Given the description of an element on the screen output the (x, y) to click on. 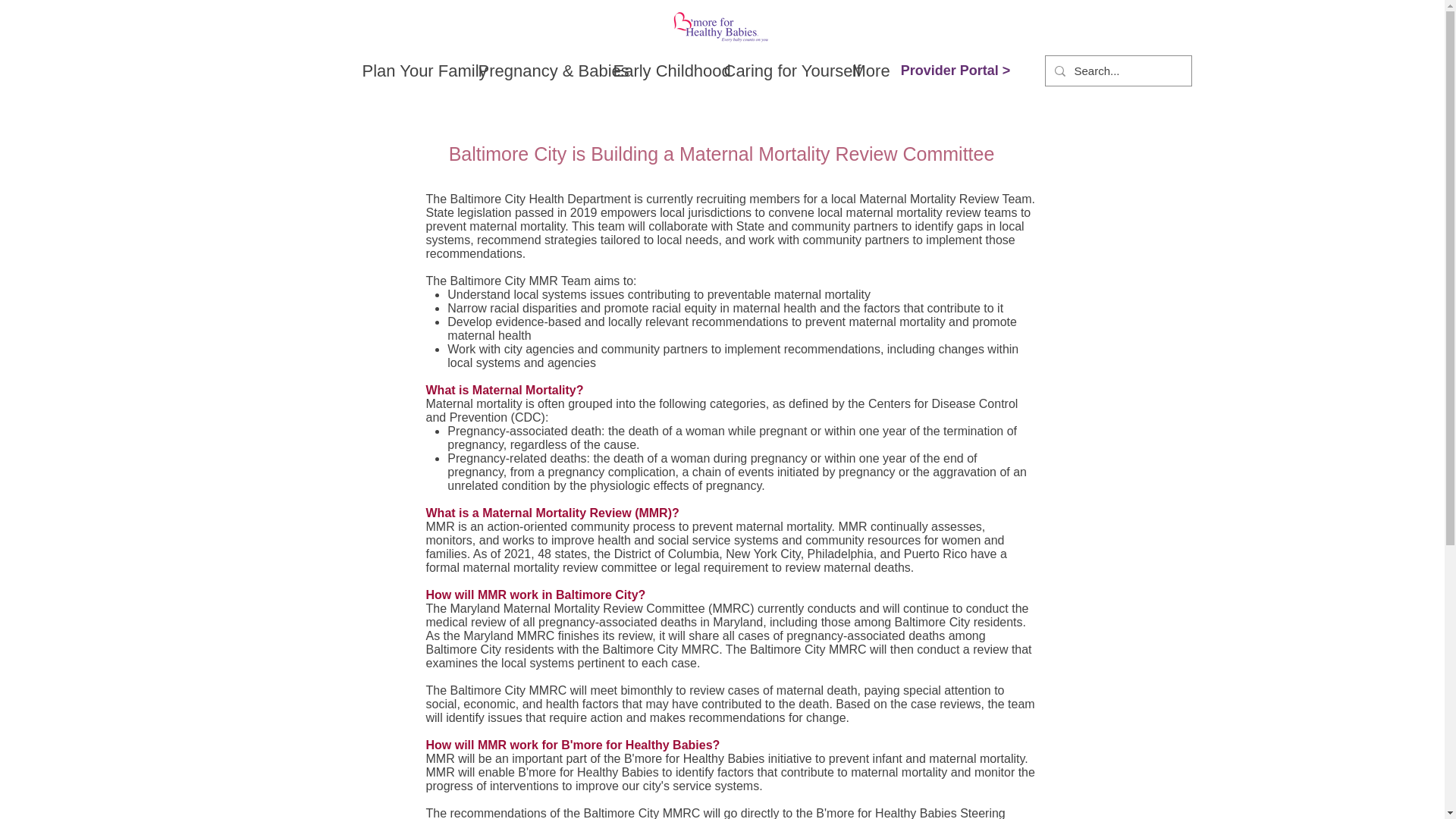
Early Childhood (655, 70)
Caring for Yourself (775, 70)
Plan Your Family (407, 70)
